Given the description of an element on the screen output the (x, y) to click on. 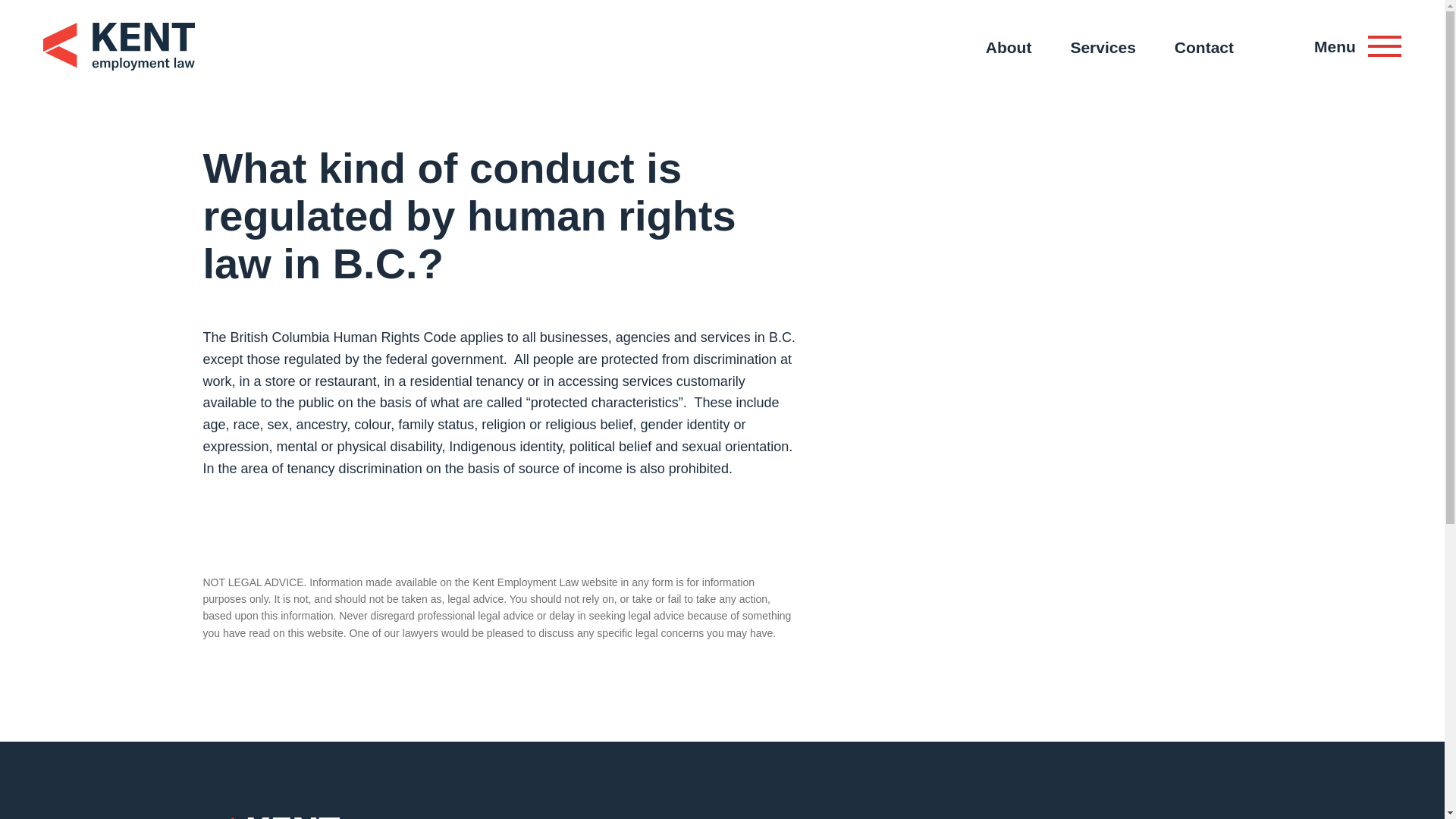
link to About page (1008, 48)
link to Contact page (1203, 48)
About (1008, 48)
Services (1102, 48)
Contact (1203, 48)
link to Services page (1102, 48)
Menu (1357, 46)
